Given the description of an element on the screen output the (x, y) to click on. 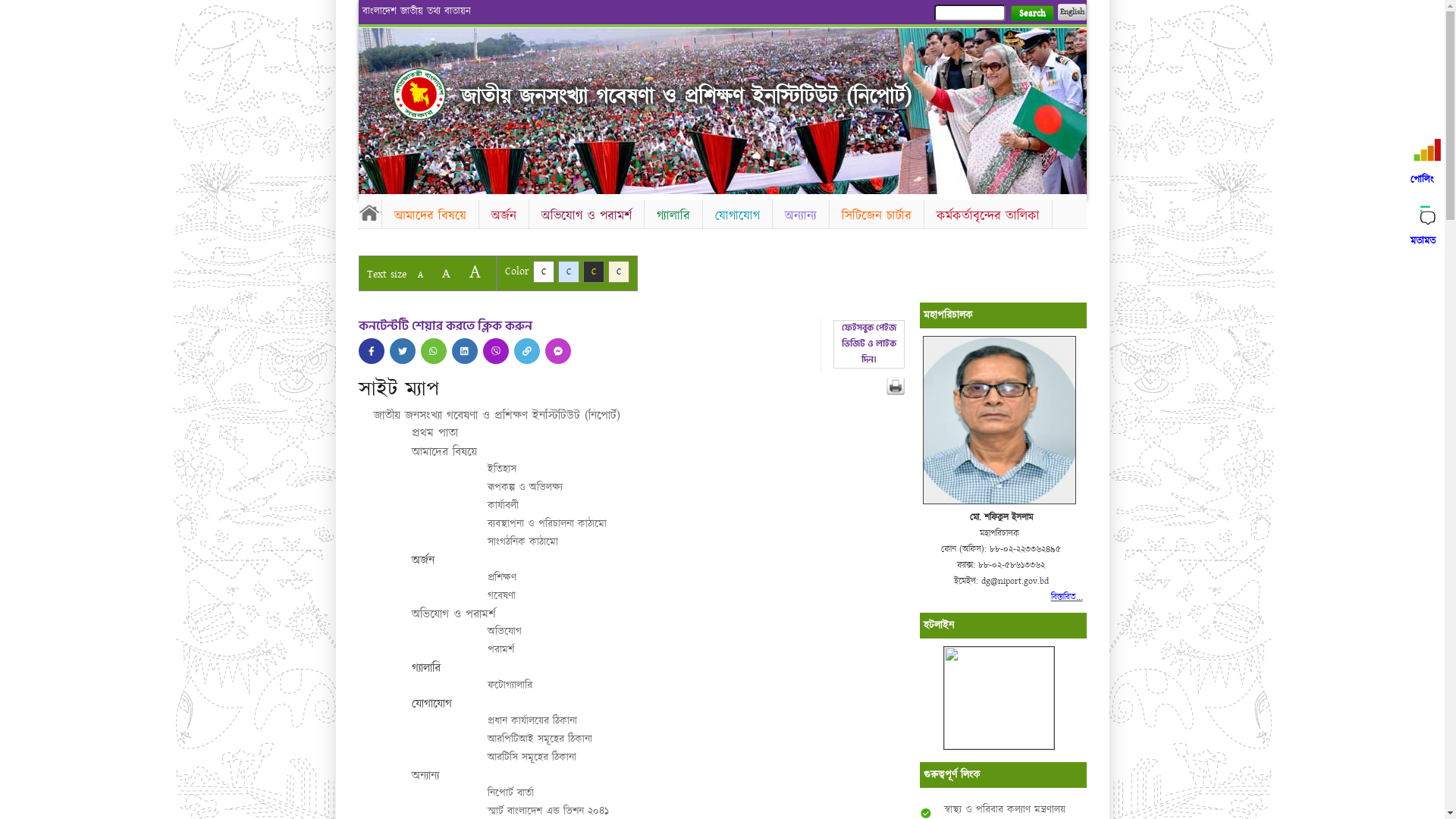
Search Element type: text (1031, 13)
C Element type: text (618, 271)
C Element type: text (592, 271)
C Element type: text (568, 271)
A Element type: text (419, 274)
C Element type: text (542, 271)
A Element type: text (474, 271)
A Element type: text (445, 273)
English Element type: text (1071, 11)
Home Element type: hover (418, 93)
Home Element type: hover (368, 211)
